Given the description of an element on the screen output the (x, y) to click on. 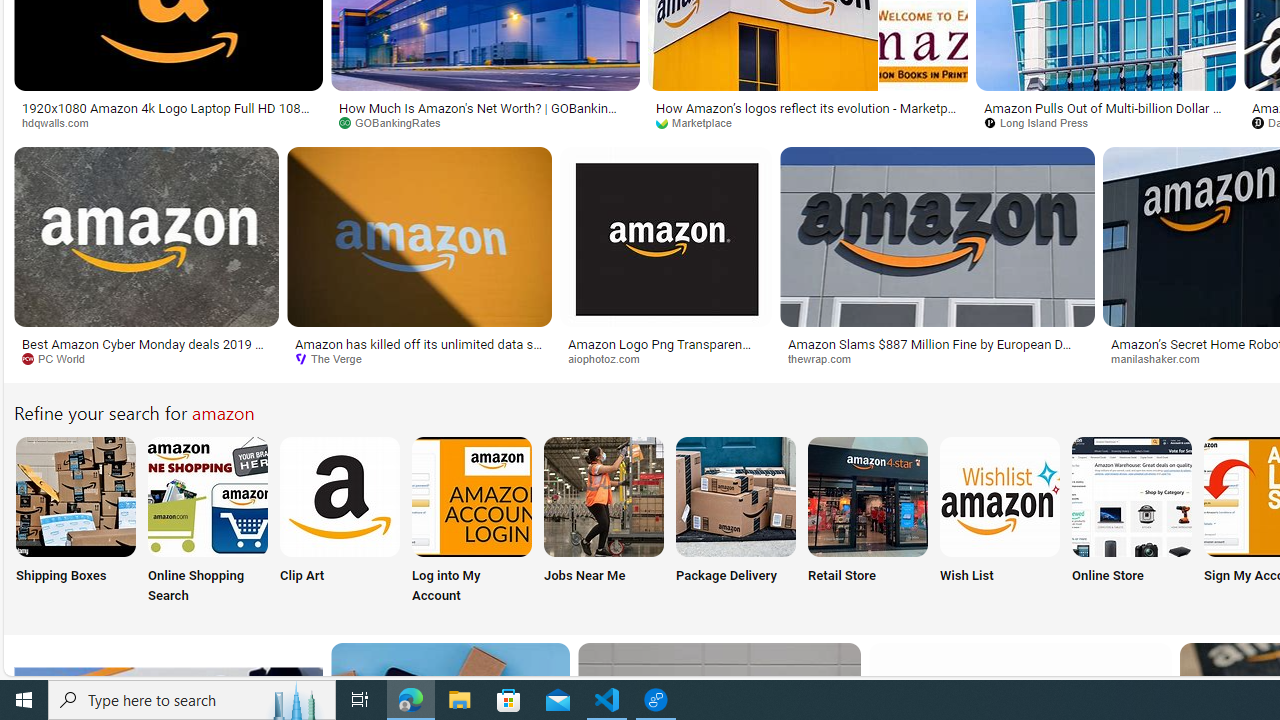
Amazon Online Shopping Search Online Shopping Search (207, 521)
Amazon Log into My Account Log into My Account (472, 521)
Marketplace (700, 121)
Wish List (999, 521)
Amazon Jobs Near Me Jobs Near Me (604, 521)
How Much Is Amazon's Net Worth? | GOBankingRates (485, 114)
The Verge (419, 359)
Amazon Wish List (999, 496)
